Given the description of an element on the screen output the (x, y) to click on. 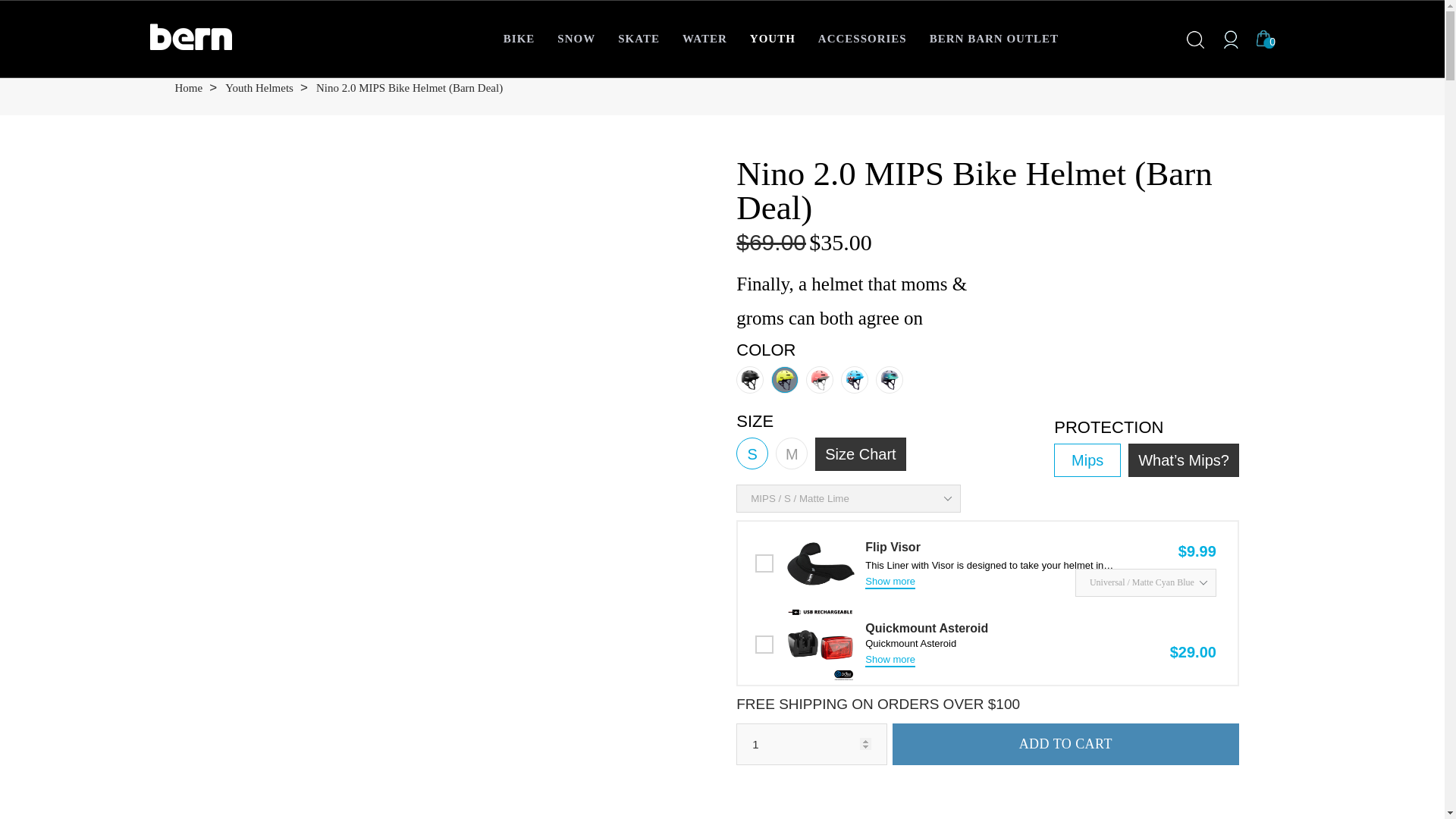
BIKE (519, 38)
SNOW (576, 38)
YOUTH (772, 38)
WATER (704, 38)
SKATE (639, 38)
1 (811, 743)
ACCESSORIES (862, 38)
